Given the description of an element on the screen output the (x, y) to click on. 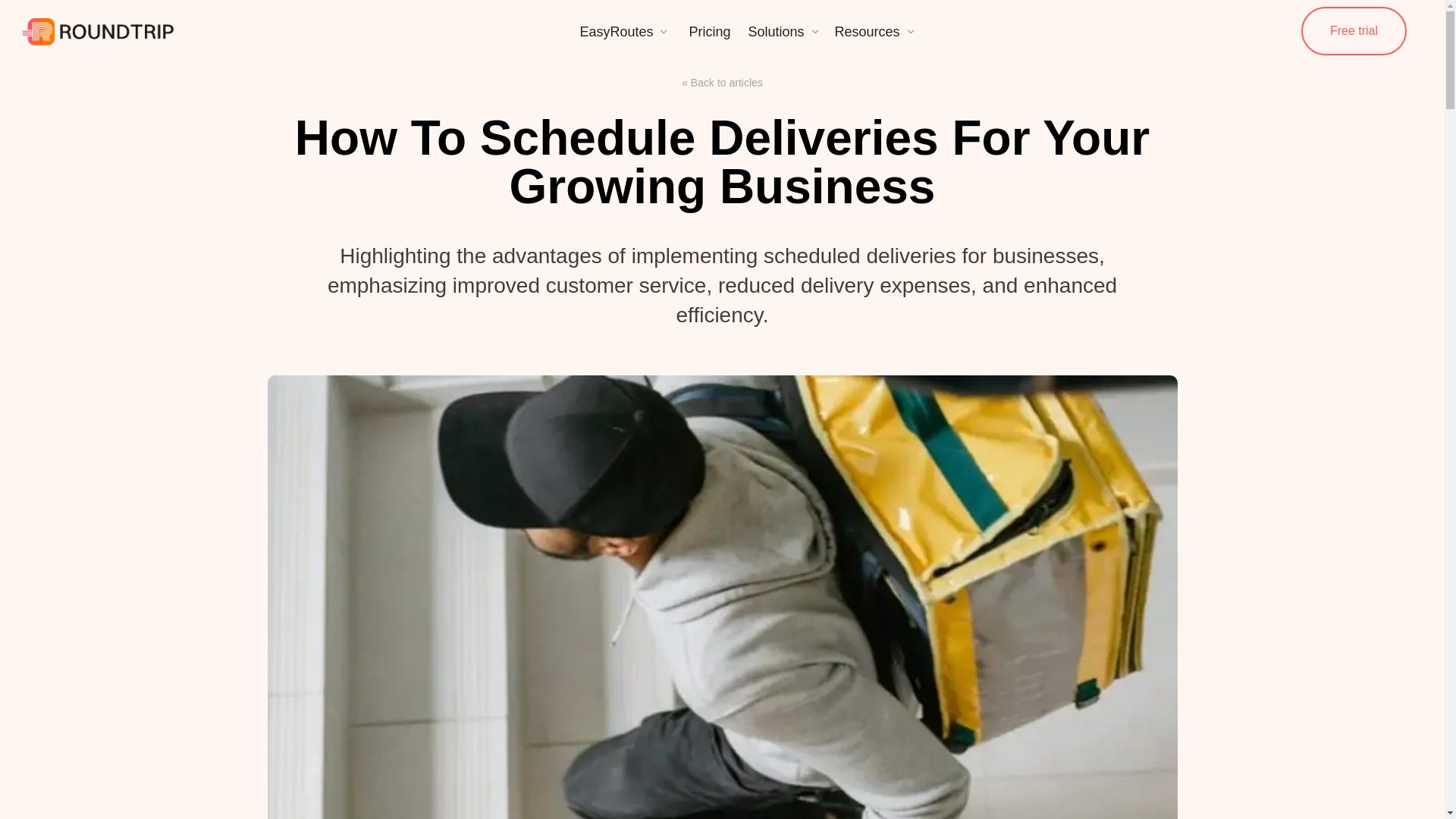
Pricing (709, 30)
Free trial (1353, 29)
